Given the description of an element on the screen output the (x, y) to click on. 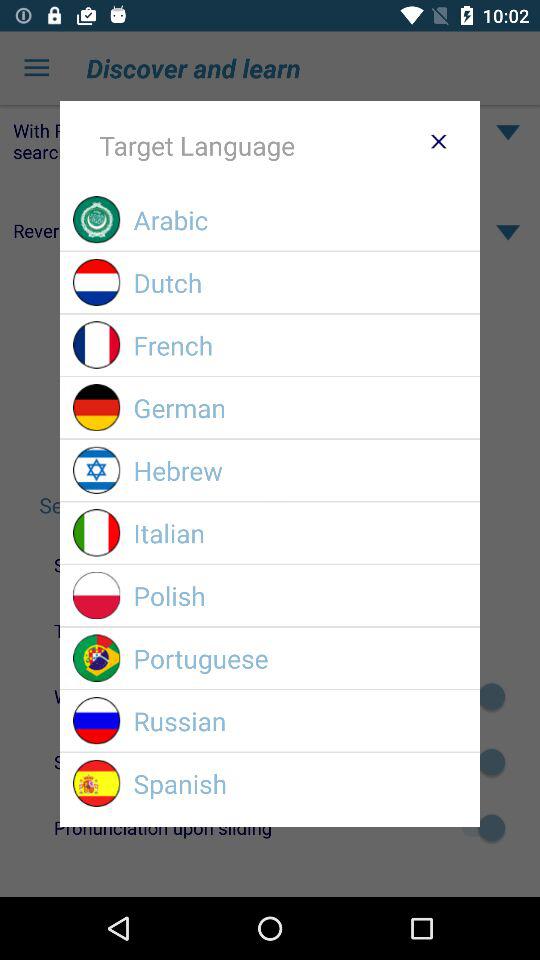
tap icon below the hebrew icon (300, 532)
